Given the description of an element on the screen output the (x, y) to click on. 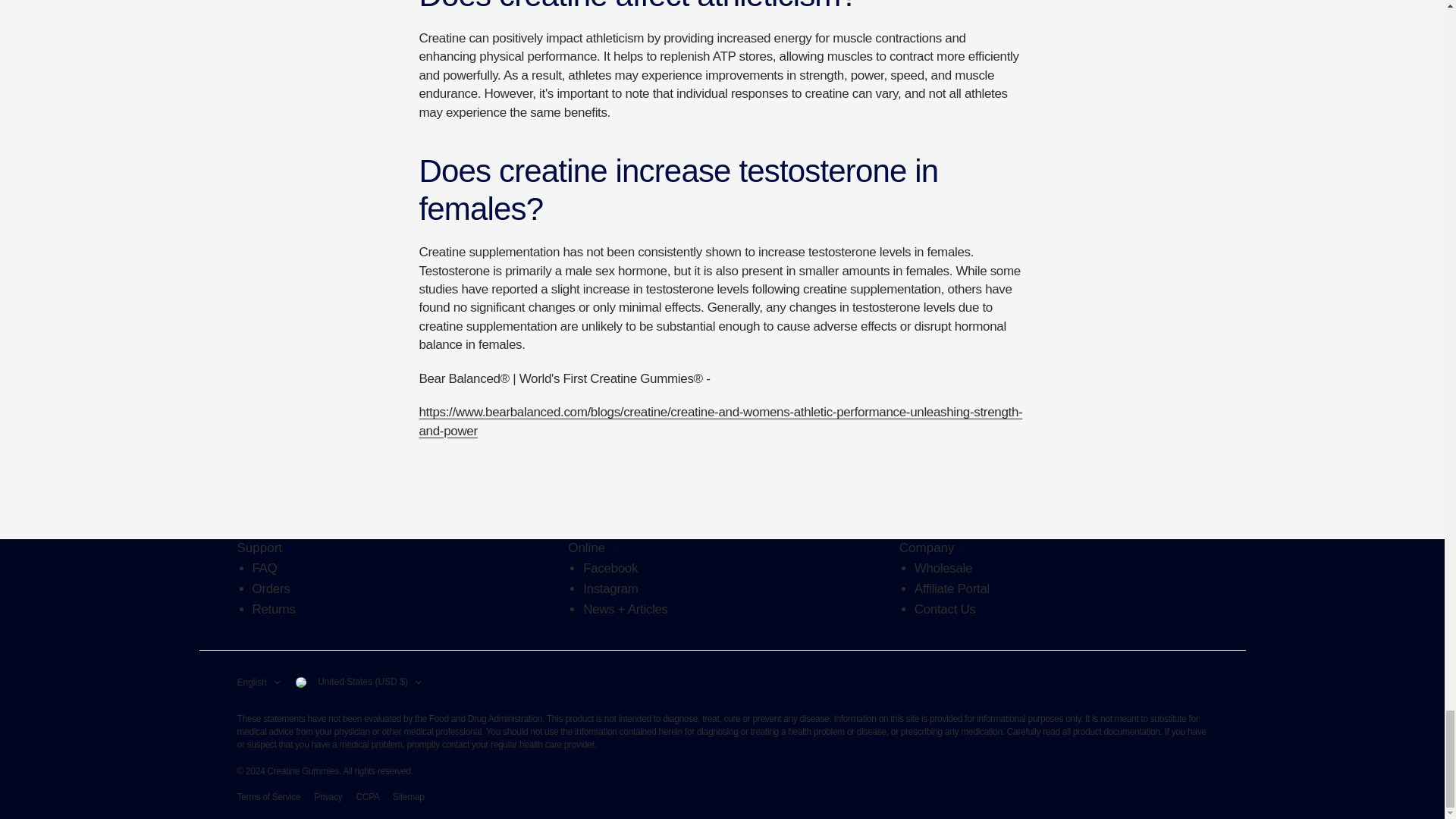
Instagram (611, 588)
Facebook (610, 568)
Online (593, 547)
Contact Us (944, 608)
Facebook (610, 568)
Returns (273, 608)
Support (265, 547)
Instagram (611, 588)
Wholesale (943, 568)
Terms of Service (267, 796)
